Given the description of an element on the screen output the (x, y) to click on. 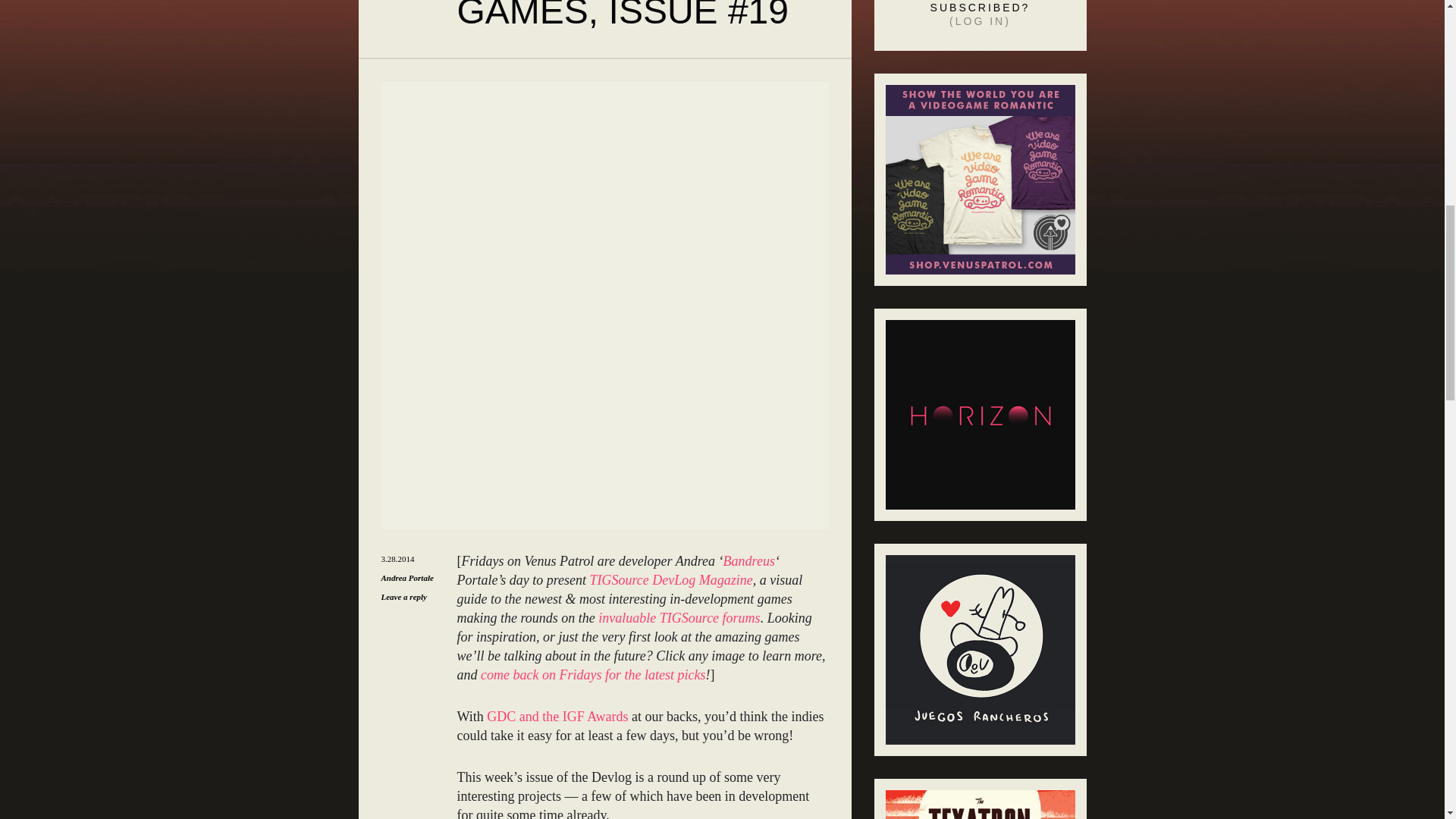
invaluable TIGSource forums (679, 617)
come back on Fridays for the latest picks (592, 674)
GDC and the IGF Awards (556, 716)
Leave a reply (403, 596)
Andrea Portale (406, 577)
Bandreus (748, 560)
TIGSource DevLog Magazine (670, 580)
